Given the description of an element on the screen output the (x, y) to click on. 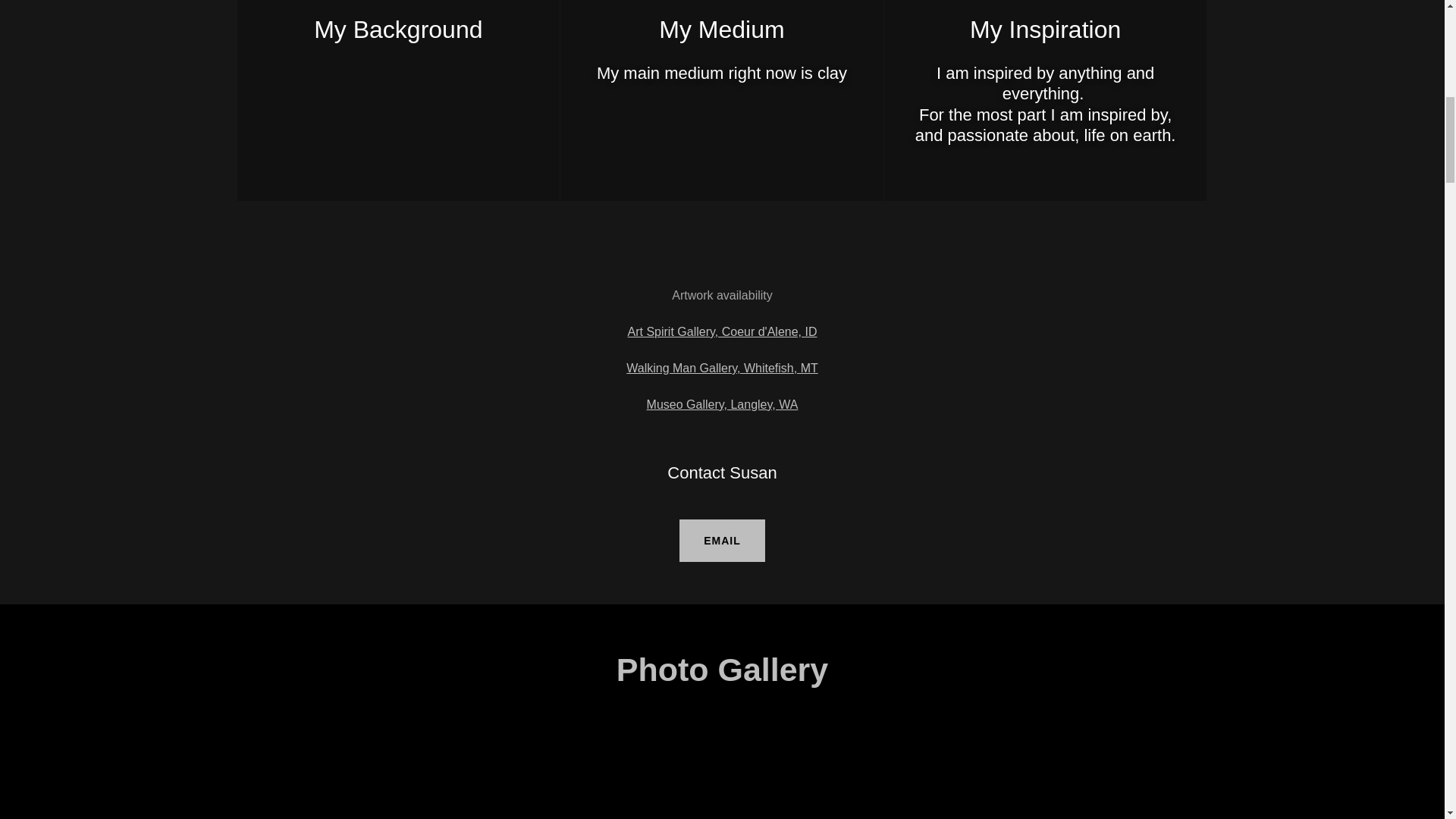
Art Spirit Gallery, Coeur d'Alene, ID (721, 331)
Walking Man Gallery, Whitefish, MT (722, 367)
EMAIL (722, 540)
Museo Gallery, Langley, WA (721, 404)
